Given the description of an element on the screen output the (x, y) to click on. 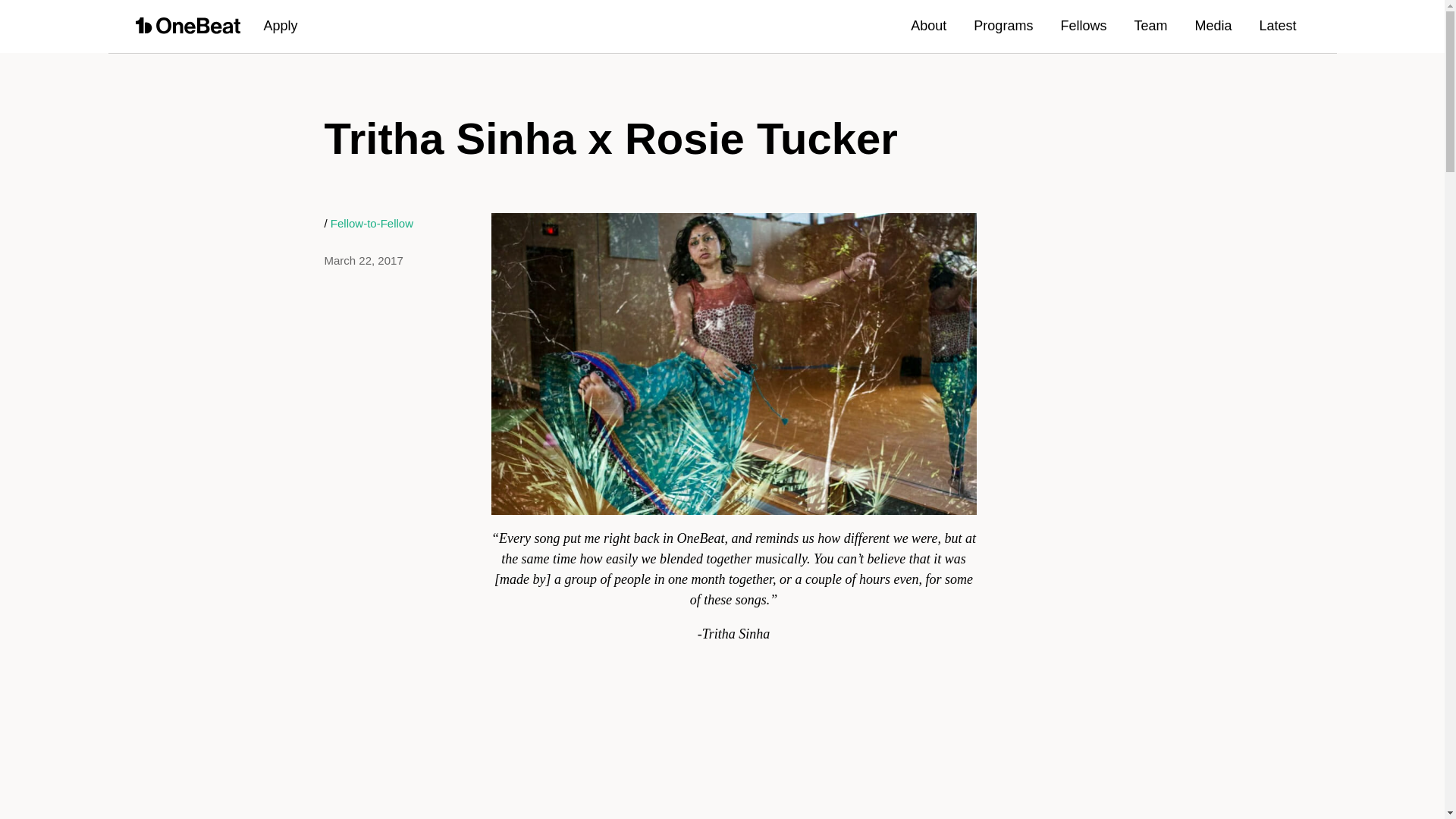
OneBeat (189, 26)
Apply (279, 26)
About (928, 26)
Media (1212, 26)
Fellows (1083, 26)
Latest (1277, 26)
Fellow-to-Fellow (371, 223)
Programs (1002, 26)
Team (1149, 26)
